Given the description of an element on the screen output the (x, y) to click on. 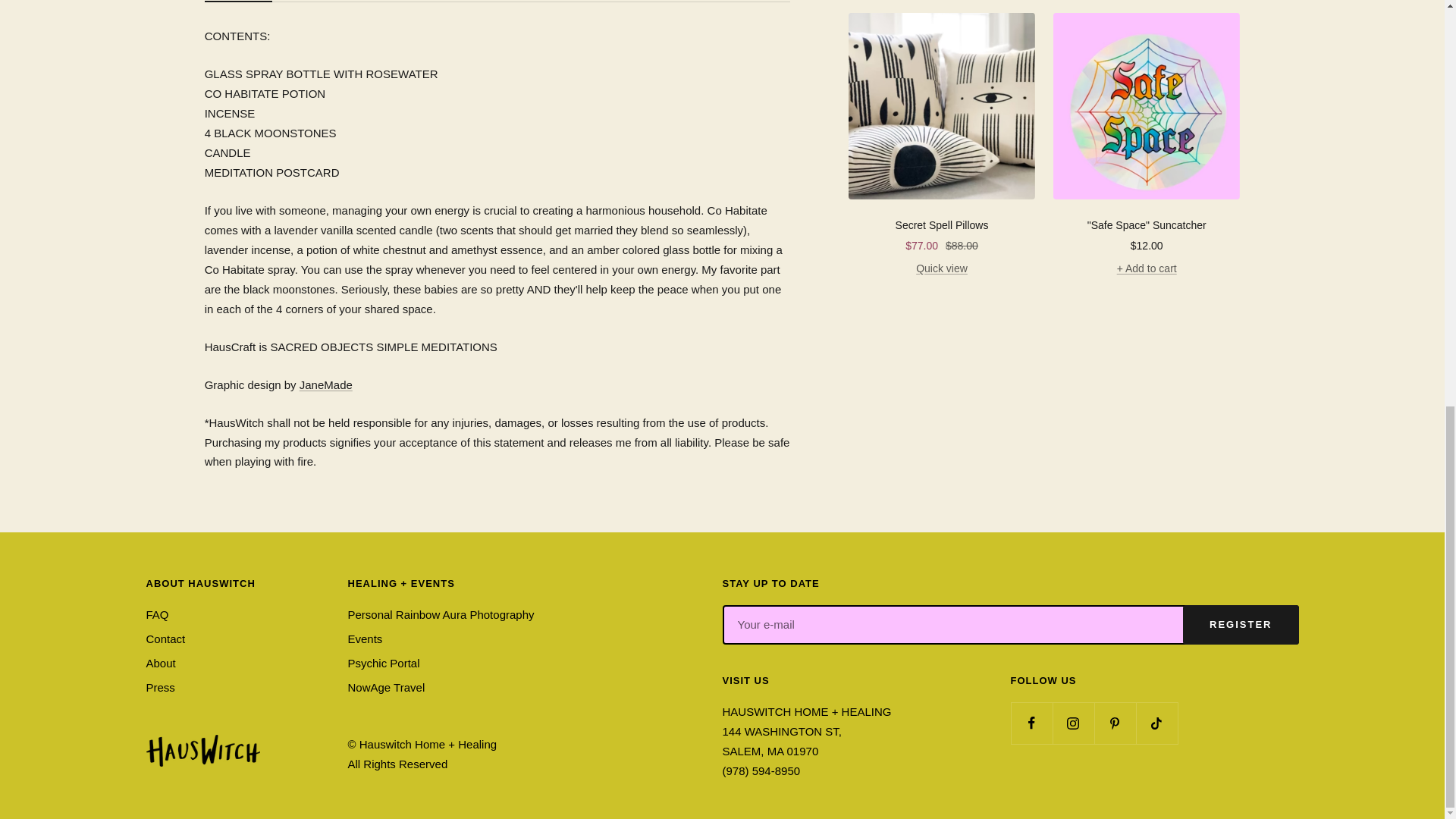
JaneMade (325, 384)
Quick view (941, 268)
Register (243, 1)
SHIPPING (1240, 624)
WHY WE LOVE IT (941, 225)
